Given the description of an element on the screen output the (x, y) to click on. 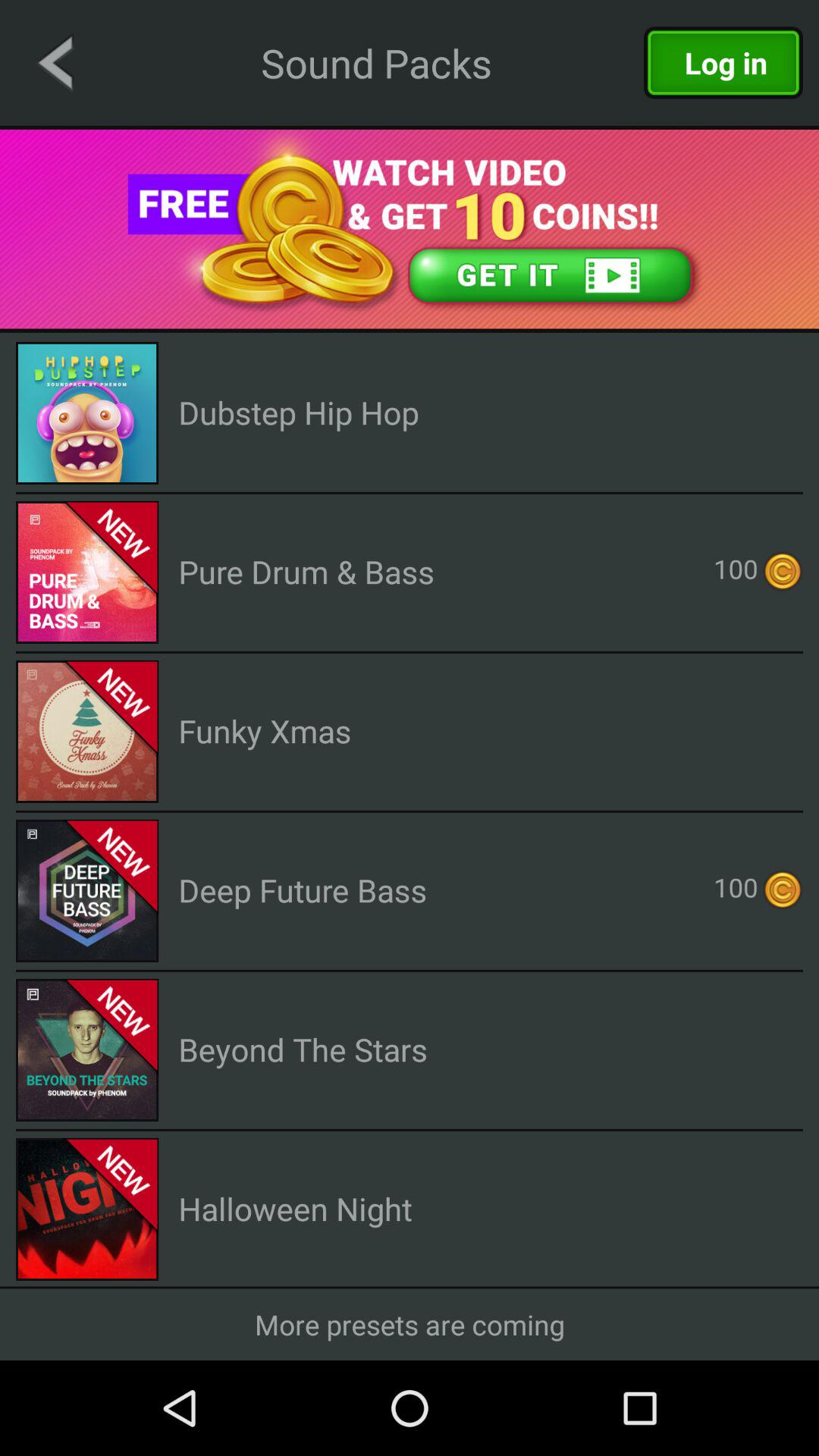
turn off the funky xmas item (264, 730)
